Given the description of an element on the screen output the (x, y) to click on. 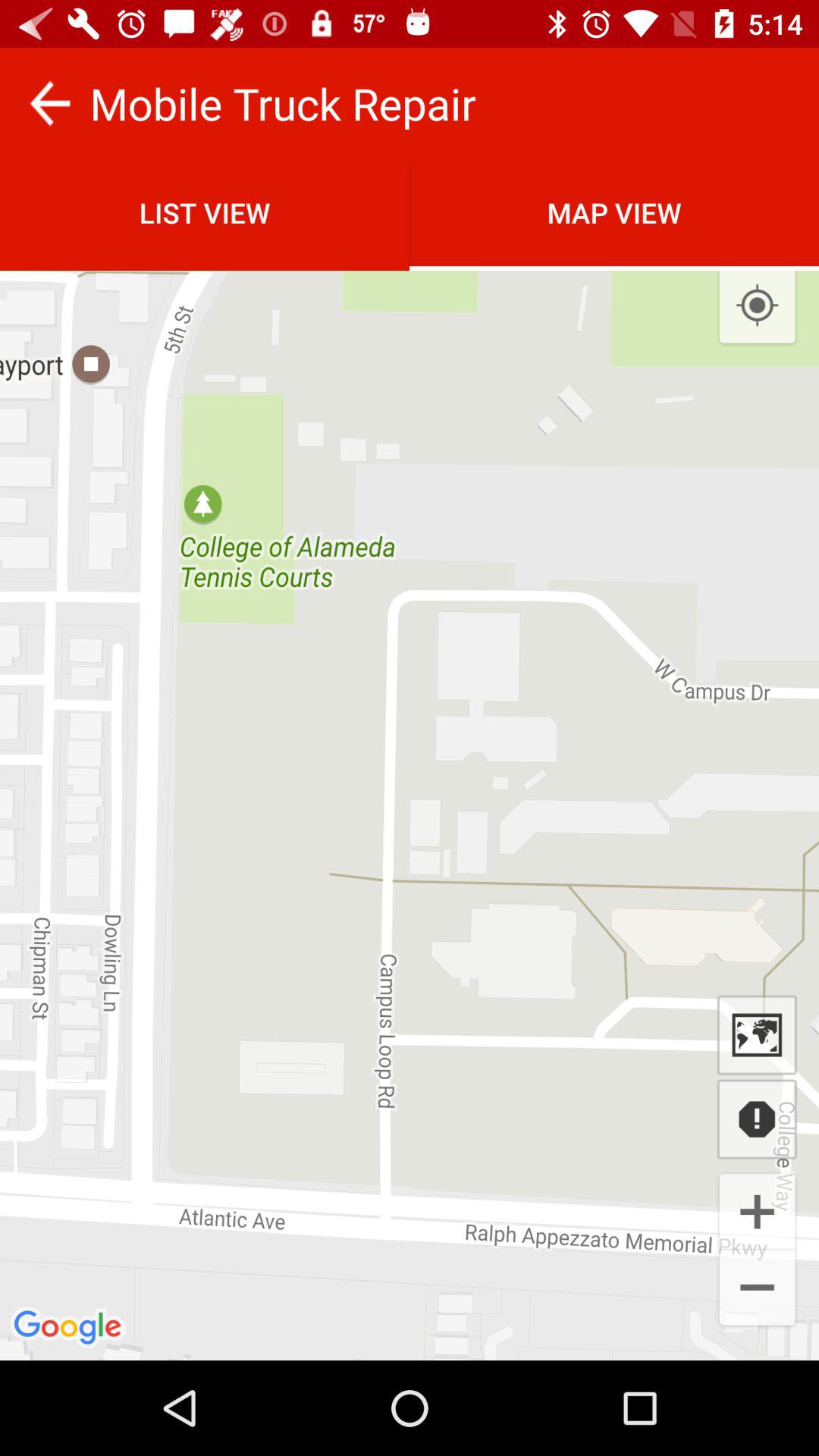
turn off icon below mobile truck repair item (614, 212)
